Given the description of an element on the screen output the (x, y) to click on. 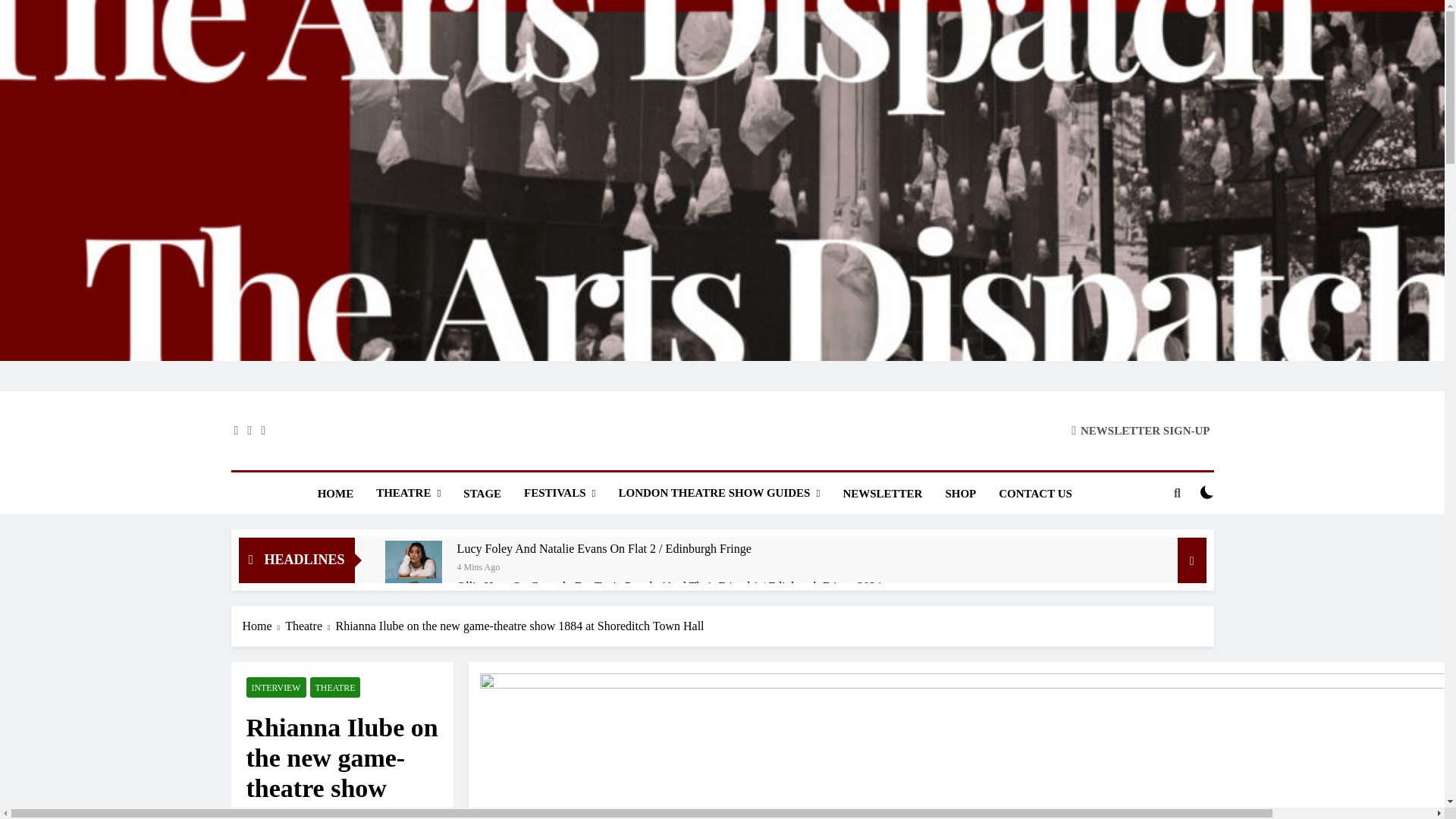
on (1206, 491)
LONDON THEATRE SHOW GUIDES (719, 493)
CONTACT US (1035, 493)
THEATRE (408, 493)
STAGE (481, 493)
NEWSLETTER (882, 493)
SHOP (960, 493)
HOME (335, 493)
NEWSLETTER SIGN-UP (1140, 430)
FESTIVALS (559, 493)
